Given the description of an element on the screen output the (x, y) to click on. 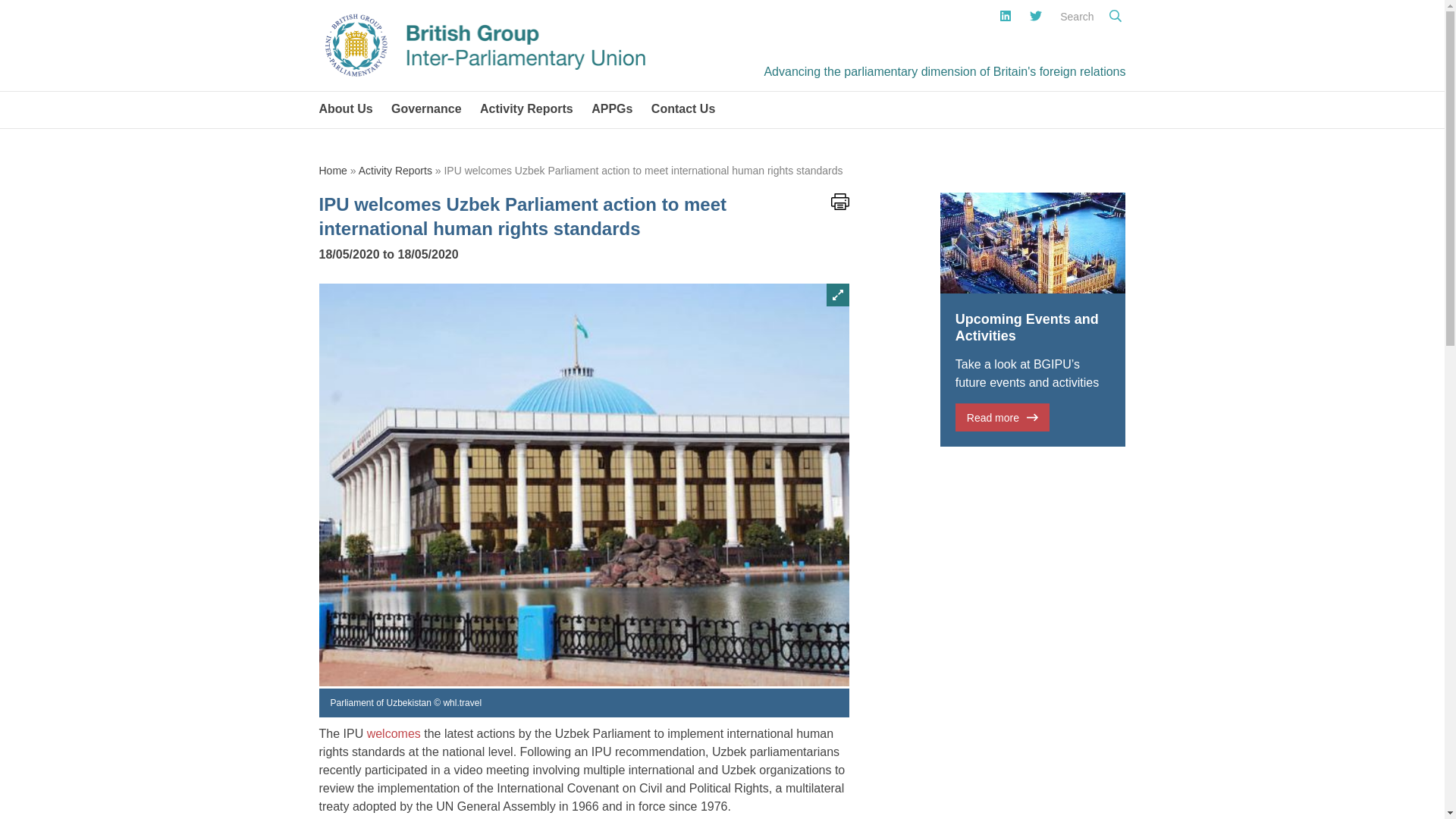
About Us (344, 109)
Activity Reports (526, 109)
Read more (1002, 417)
Governance (425, 109)
APPGs (611, 109)
Contact Us (683, 109)
